Given the description of an element on the screen output the (x, y) to click on. 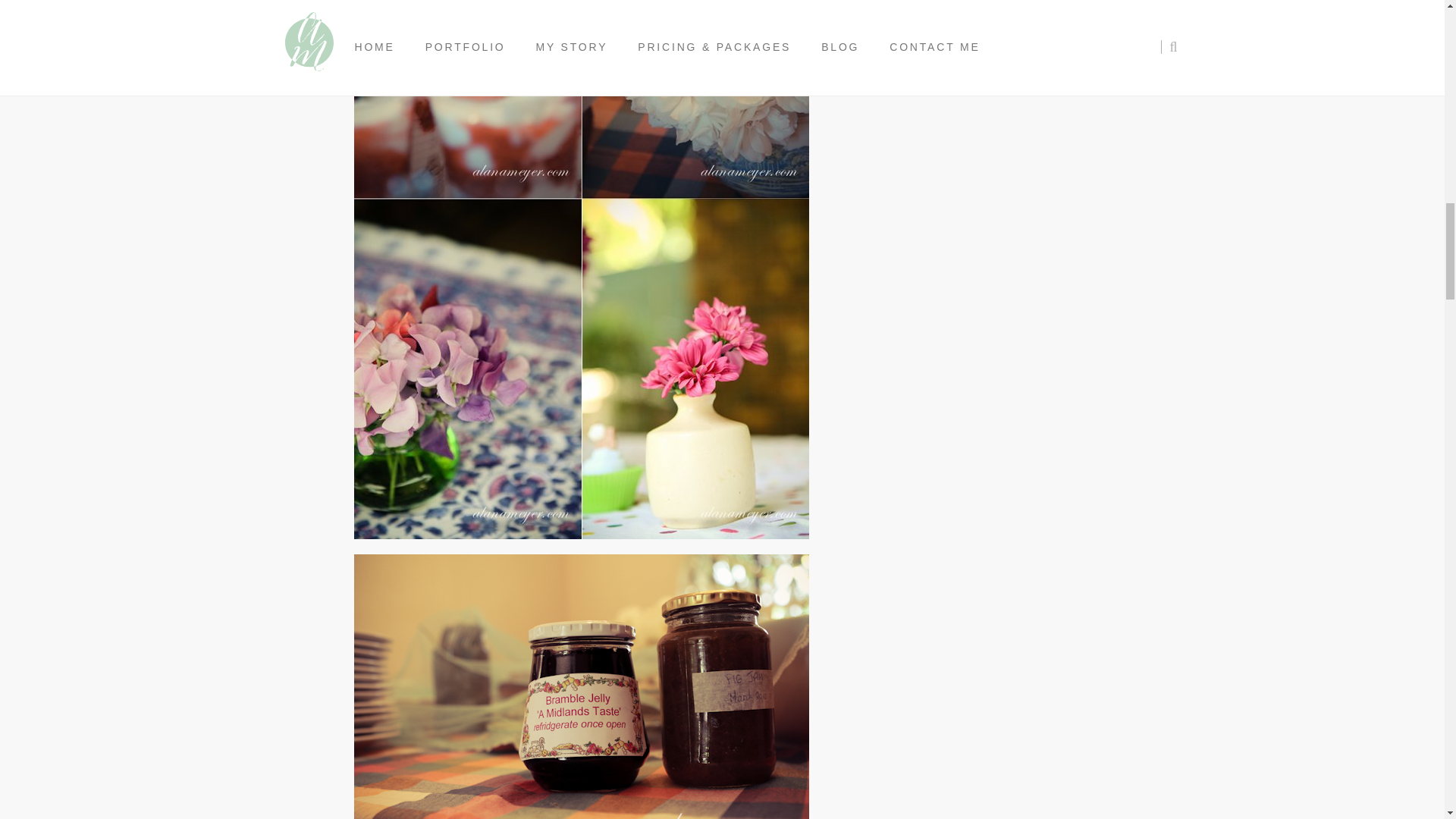
jen-8 (581, 686)
